Given the description of an element on the screen output the (x, y) to click on. 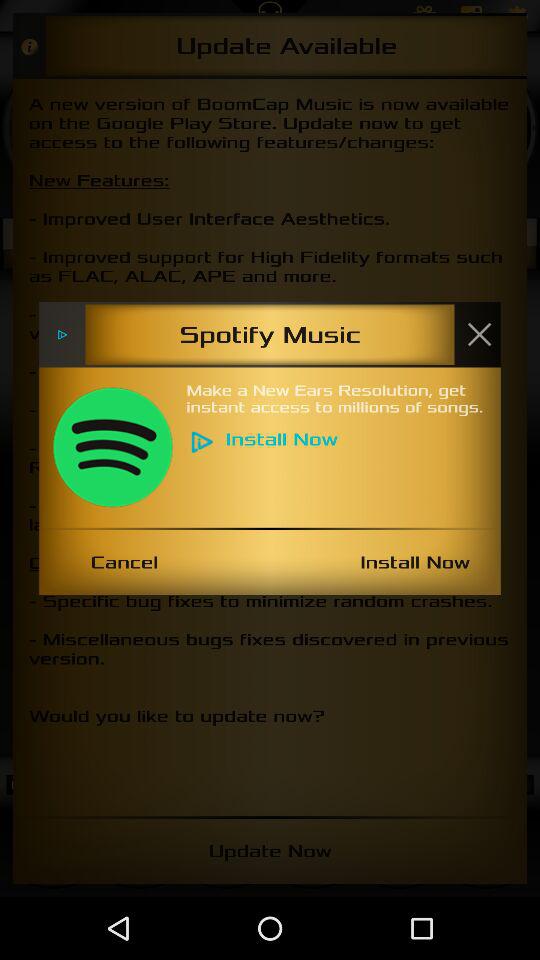
launch item to the left of the make a new icon (112, 447)
